Given the description of an element on the screen output the (x, y) to click on. 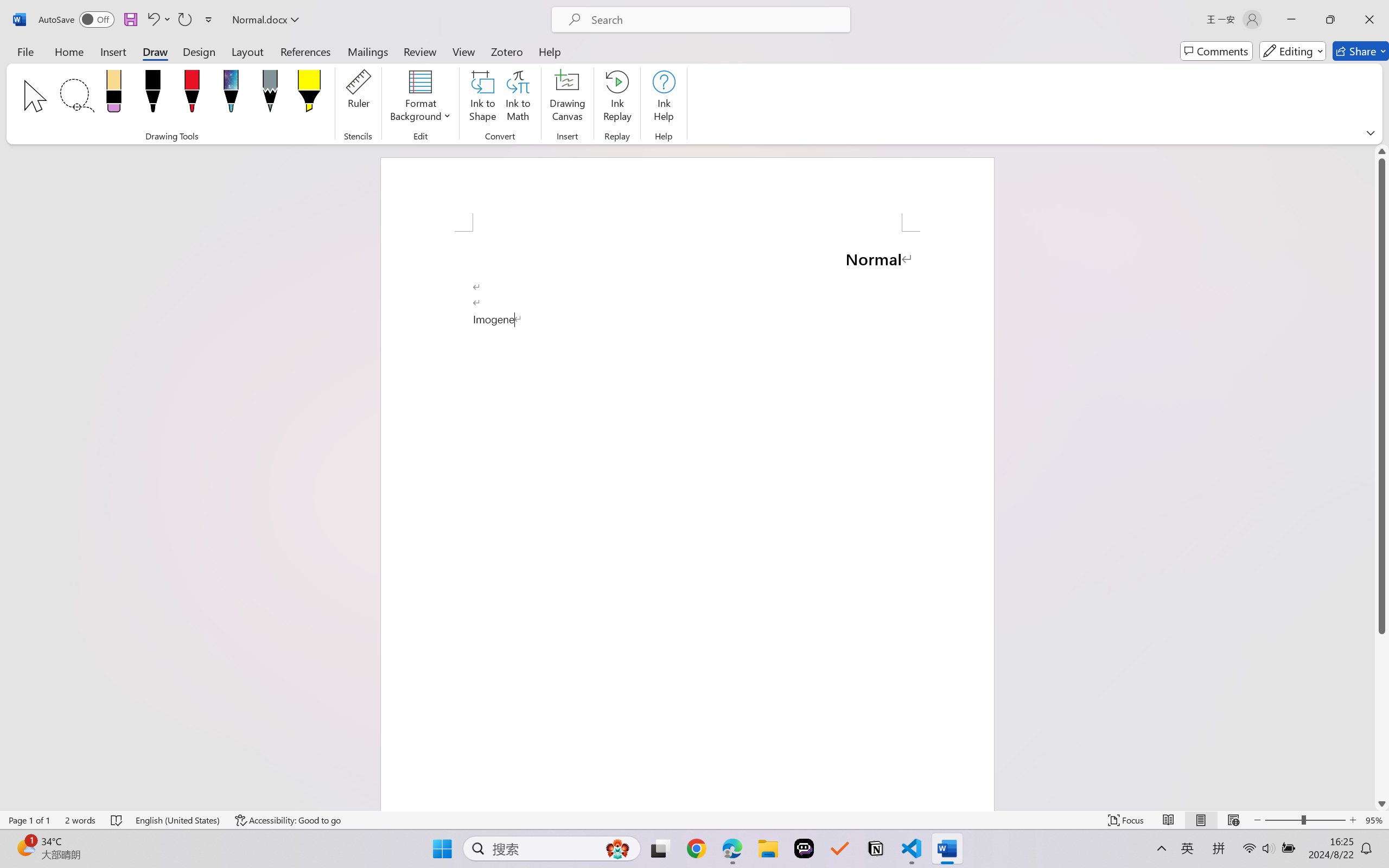
Editing (1292, 50)
Class: MsoCommandBar (694, 819)
Ink Replay (617, 97)
Undo Paragraph Formatting (152, 19)
Line up (1382, 150)
